Given the description of an element on the screen output the (x, y) to click on. 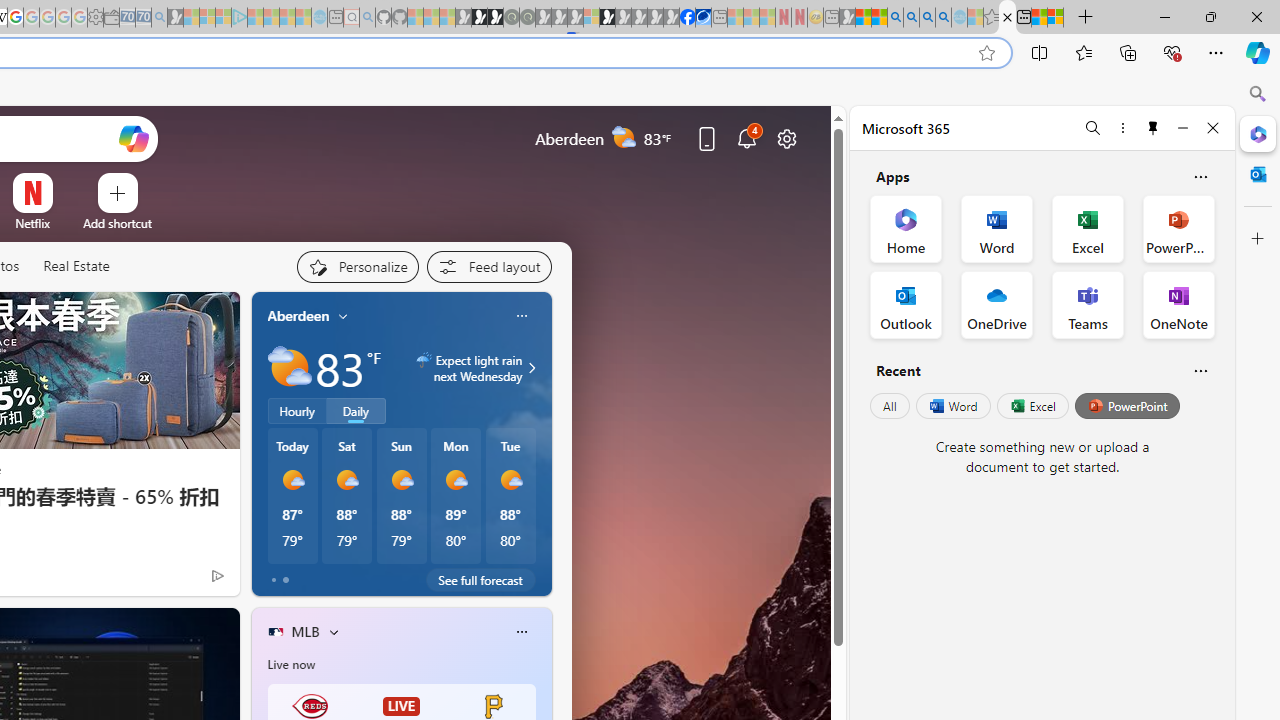
Daily (356, 411)
